Given the description of an element on the screen output the (x, y) to click on. 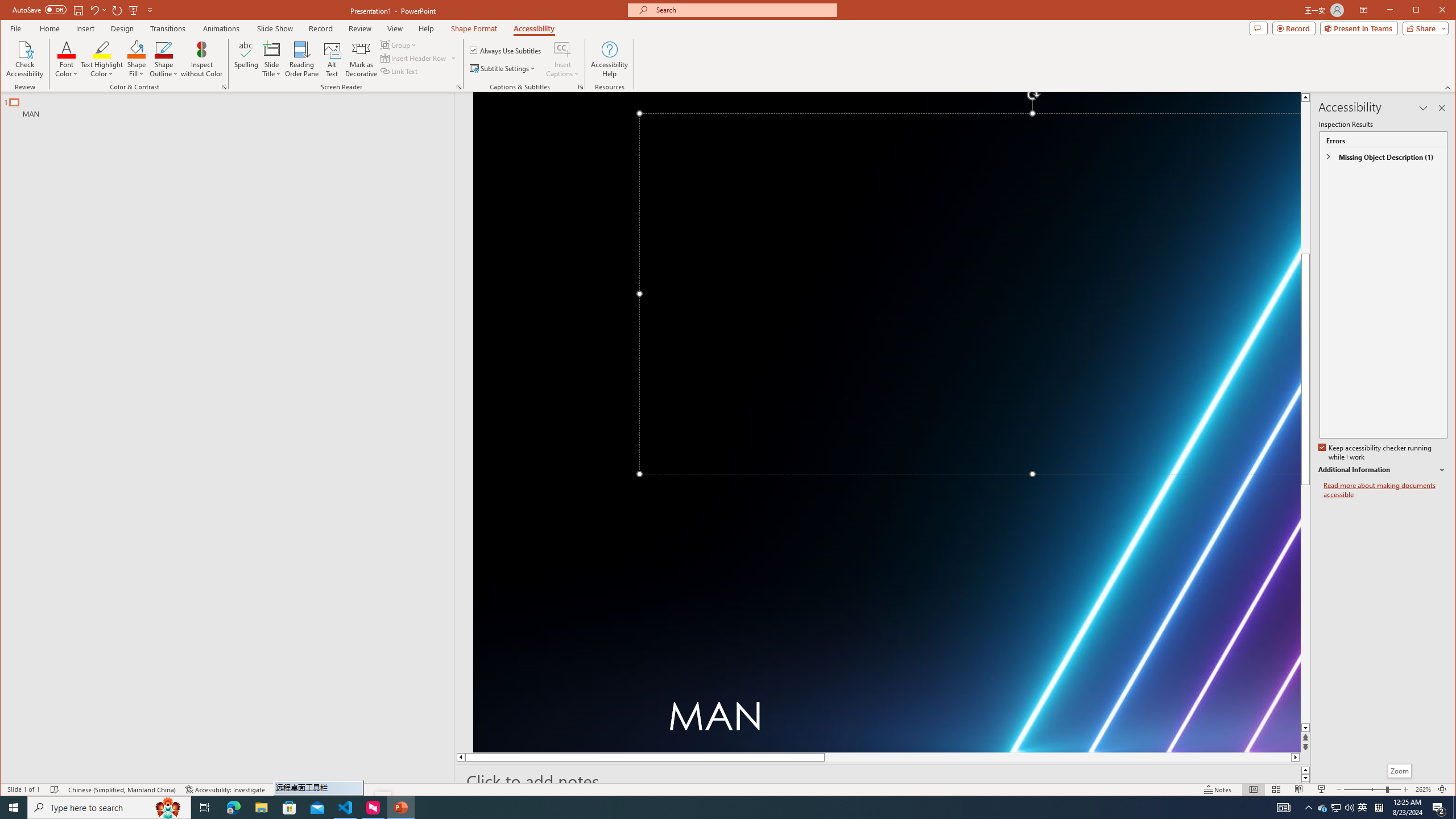
Running applications (700, 807)
Search highlights icon opens search home window (167, 807)
Page up (1305, 177)
Accessibility Checker Accessibility: Investigate (225, 789)
Inspect without Color (201, 59)
Page down (1305, 603)
Microsoft search (742, 10)
Shape Outline Blue, Accent 1 (163, 48)
Customize Quick Access Toolbar (150, 9)
